Given the description of an element on the screen output the (x, y) to click on. 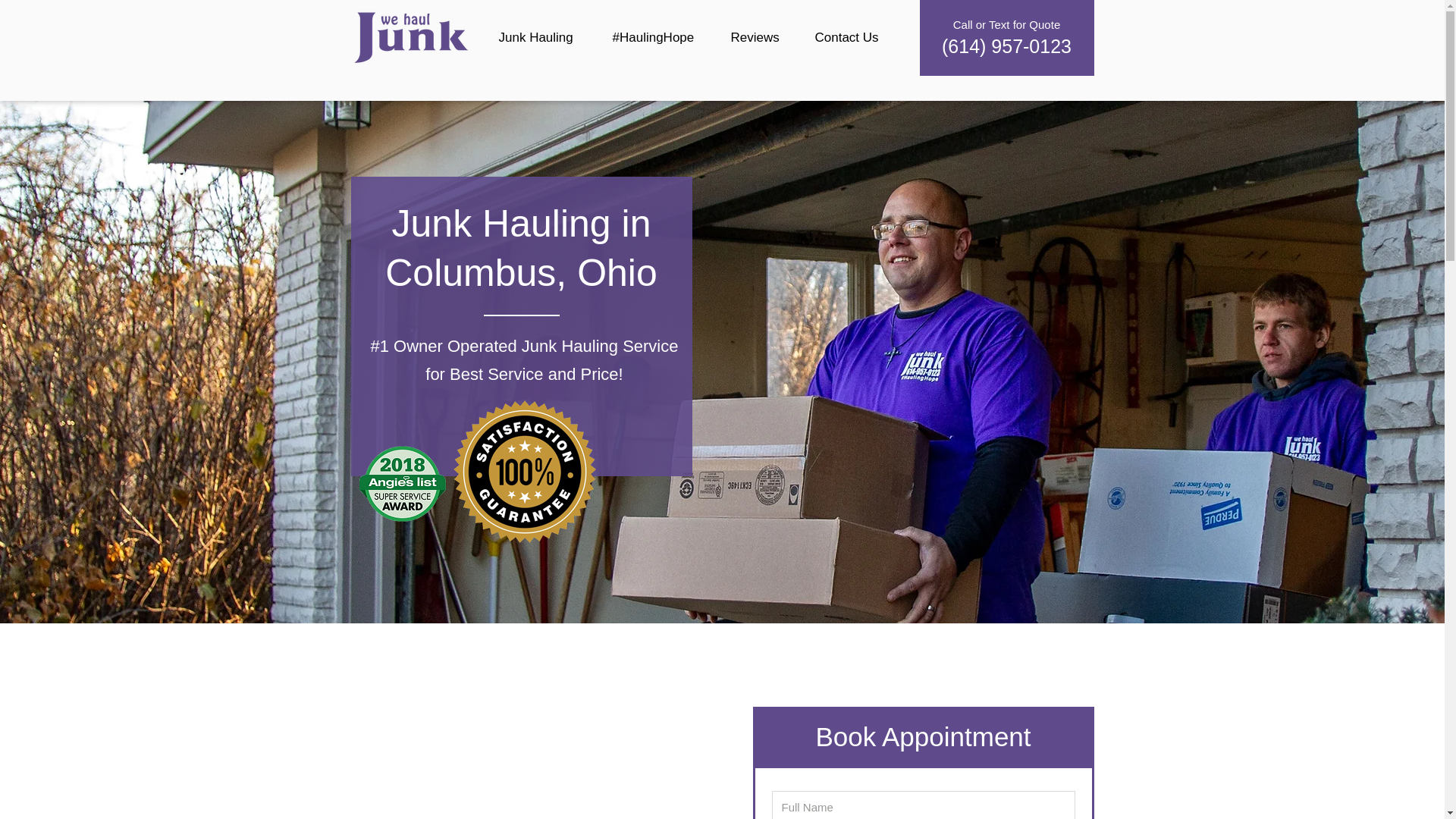
Reviews (761, 37)
Contact Us (853, 37)
Junk Hauling (542, 37)
